Given the description of an element on the screen output the (x, y) to click on. 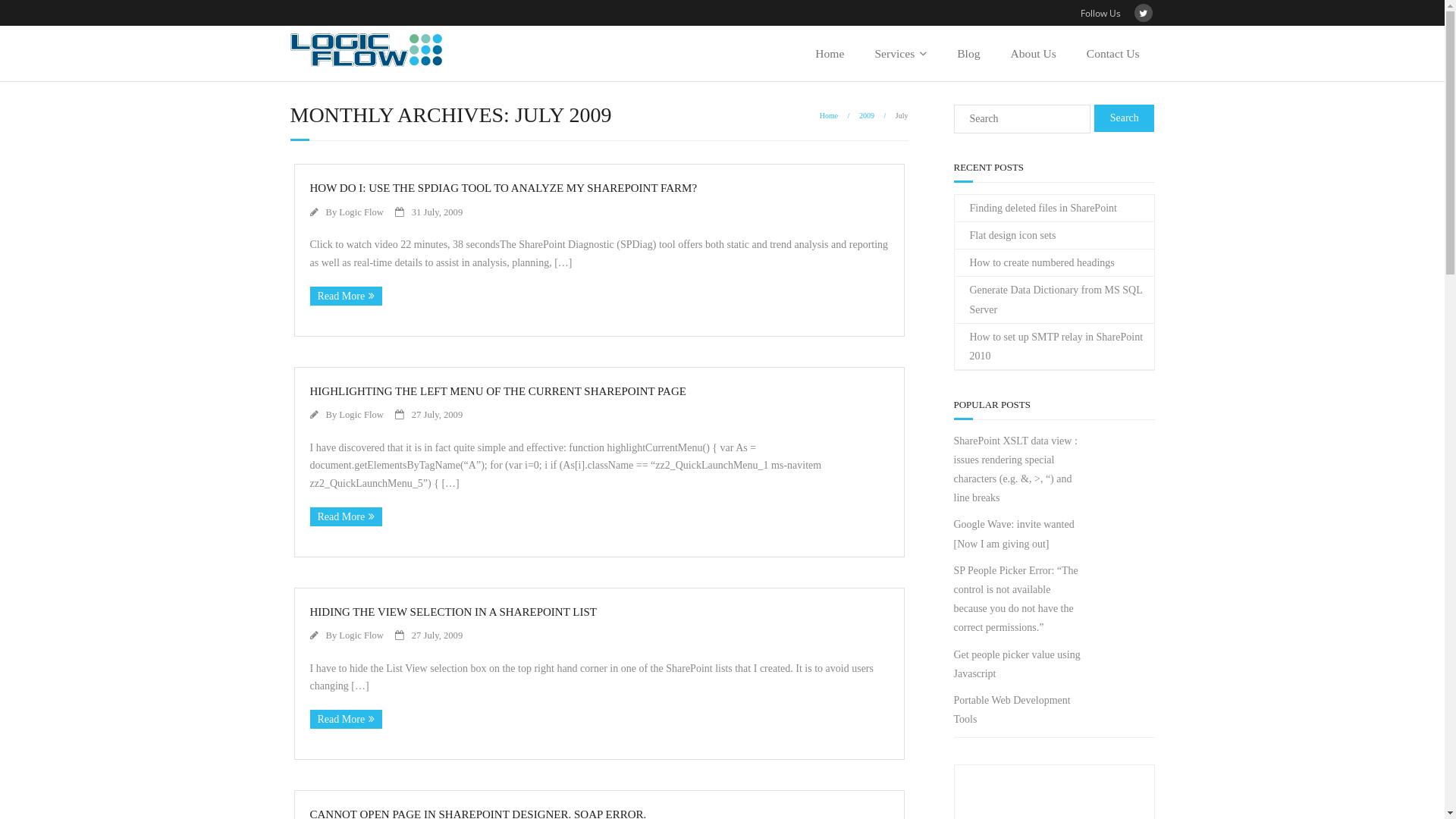
Home Element type: text (829, 53)
27 July, 2009 Element type: text (436, 635)
Read More Element type: text (345, 295)
Logic Flow Element type: text (360, 212)
Logic Flow Element type: text (360, 414)
Generate Data Dictionary from MS SQL Server Element type: text (1053, 299)
Google Wave: invite wanted [Now I am giving out] Element type: text (1018, 533)
HIDING THE VIEW SELECTION IN A SHAREPOINT LIST Element type: text (452, 611)
Contact Us Element type: text (1112, 53)
Read More Element type: text (345, 718)
About Us Element type: text (1033, 53)
2009 Element type: text (866, 115)
Portable Web Development Tools Element type: text (1018, 709)
HOW DO I: USE THE SPDIAG TOOL TO ANALYZE MY SHAREPOINT FARM? Element type: text (502, 188)
Logic Flow Element type: text (360, 635)
HIGHLIGHTING THE LEFT MENU OF THE CURRENT SHAREPOINT PAGE Element type: text (497, 391)
How to set up SMTP relay in SharePoint 2010 Element type: text (1053, 346)
31 July, 2009 Element type: text (436, 212)
Search Element type: text (1124, 117)
Home Element type: text (828, 115)
Blog Element type: text (967, 53)
27 July, 2009 Element type: text (436, 414)
Get people picker value using Javascript Element type: text (1018, 664)
Flat design icon sets Element type: text (1004, 235)
Services Element type: text (900, 53)
How to create numbered headings Element type: text (1033, 262)
Finding deleted files in SharePoint Element type: text (1034, 207)
Read More Element type: text (345, 516)
